Given the description of an element on the screen output the (x, y) to click on. 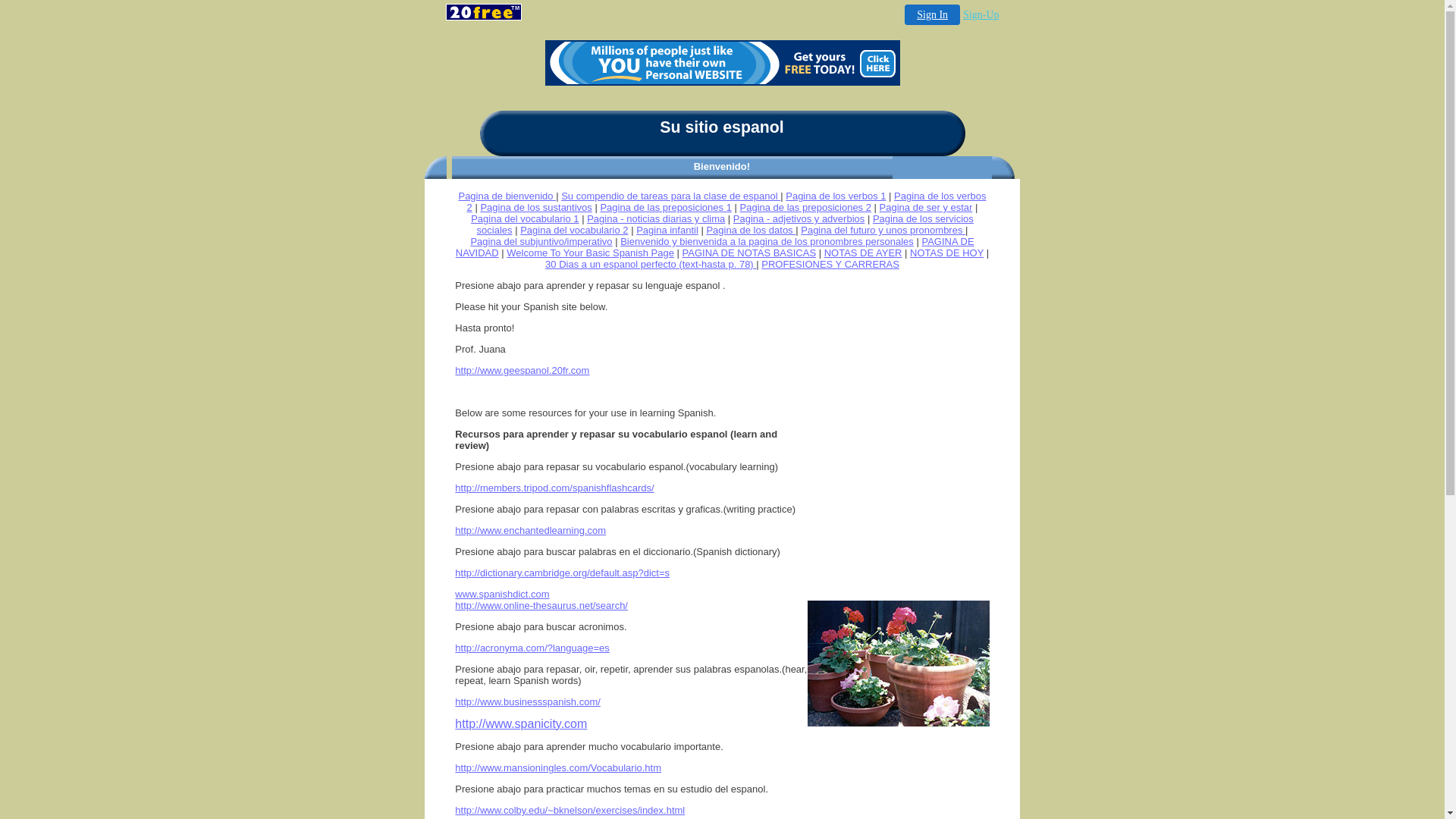
http://www.businessspanish.com/ Element type: text (527, 701)
http://acronyma.com/?language=es Element type: text (531, 647)
NOTAS DE HOY Element type: text (946, 252)
Pagina del futuro y unos pronombres Element type: text (882, 229)
Welcome To Your Basic Spanish Page Element type: text (590, 252)
Pagina de los datos Element type: text (750, 229)
Pagina de los verbos 1 Element type: text (835, 195)
Pagina de bienvenido Element type: text (506, 195)
Sign-Up Element type: text (980, 14)
Pagina de los sustantivos Element type: text (535, 207)
http://www.enchantedlearning.com Element type: text (530, 530)
http://www.mansioningles.com/Vocabulario.htm Element type: text (558, 767)
Pagina de ser y estar Element type: text (925, 207)
http://www.spanicity.com Element type: text (520, 724)
Pagina del vocabulario 1 Element type: text (524, 218)
http://members.tripod.com/spanishflashcards/ Element type: text (554, 487)
Su compendio de tareas para la clase de espanol Element type: text (670, 195)
PAGINA DE NOTAS BASICAS Element type: text (749, 252)
Pagina de los verbos 2 Element type: text (726, 201)
http://www.colby.edu/~bknelson/exercises/index.html Element type: text (569, 809)
Pagina - adjetivos y adverbios Element type: text (798, 218)
PROFESIONES Y CARRERAS Element type: text (830, 263)
Pagina de las preposiciones 2 Element type: text (805, 207)
Pagina del vocabulario 2 Element type: text (573, 229)
http://www.geespanol.20fr.com Element type: text (522, 370)
Pagina de los servicios sociales Element type: text (724, 224)
PAGINA DE NAVIDAD Element type: text (714, 246)
Pagina de las preposiciones 1 Element type: text (665, 207)
30 Dias a un espanol perfecto (text-hasta p. 78) Element type: text (650, 263)
Sign In Element type: text (932, 14)
www.spanishdict.com Element type: text (502, 593)
Pagina del subjuntivo/imperativo Element type: text (540, 241)
http://www.online-thesaurus.net/search/ Element type: text (541, 605)
NOTAS DE AYER Element type: text (863, 252)
Pagina infantil Element type: text (667, 229)
http://dictionary.cambridge.org/default.asp?dict=s Element type: text (562, 572)
Pagina - noticias diarias y clima Element type: text (655, 218)
